Given the description of an element on the screen output the (x, y) to click on. 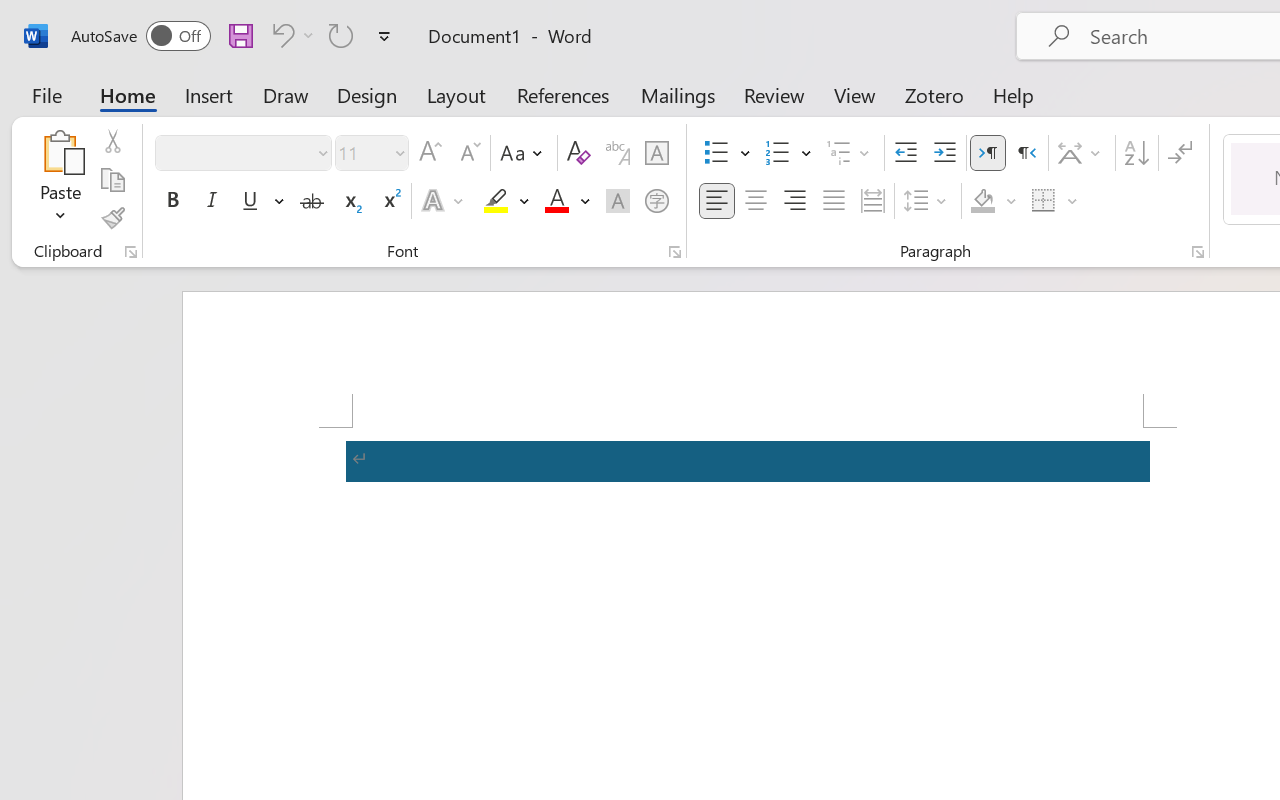
Left-to-Right (988, 153)
